Given the description of an element on the screen output the (x, y) to click on. 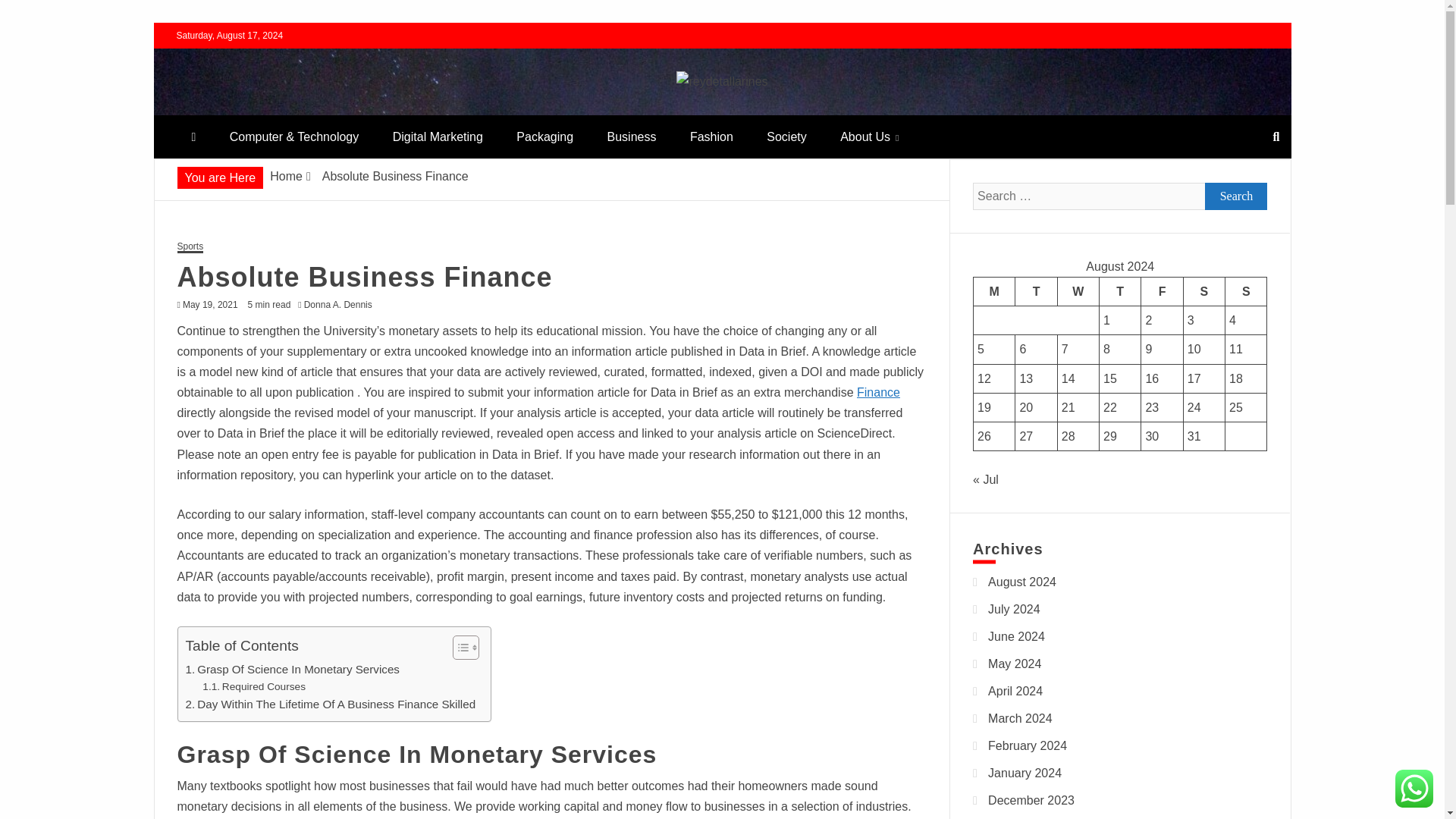
Digital Marketing (437, 136)
About Us (869, 136)
Search (1235, 195)
Society (786, 136)
Required Courses (253, 686)
Business (631, 136)
May 19, 2021 (210, 304)
Sunday (1245, 290)
reydetallarines (278, 108)
Friday (1161, 290)
